Given the description of an element on the screen output the (x, y) to click on. 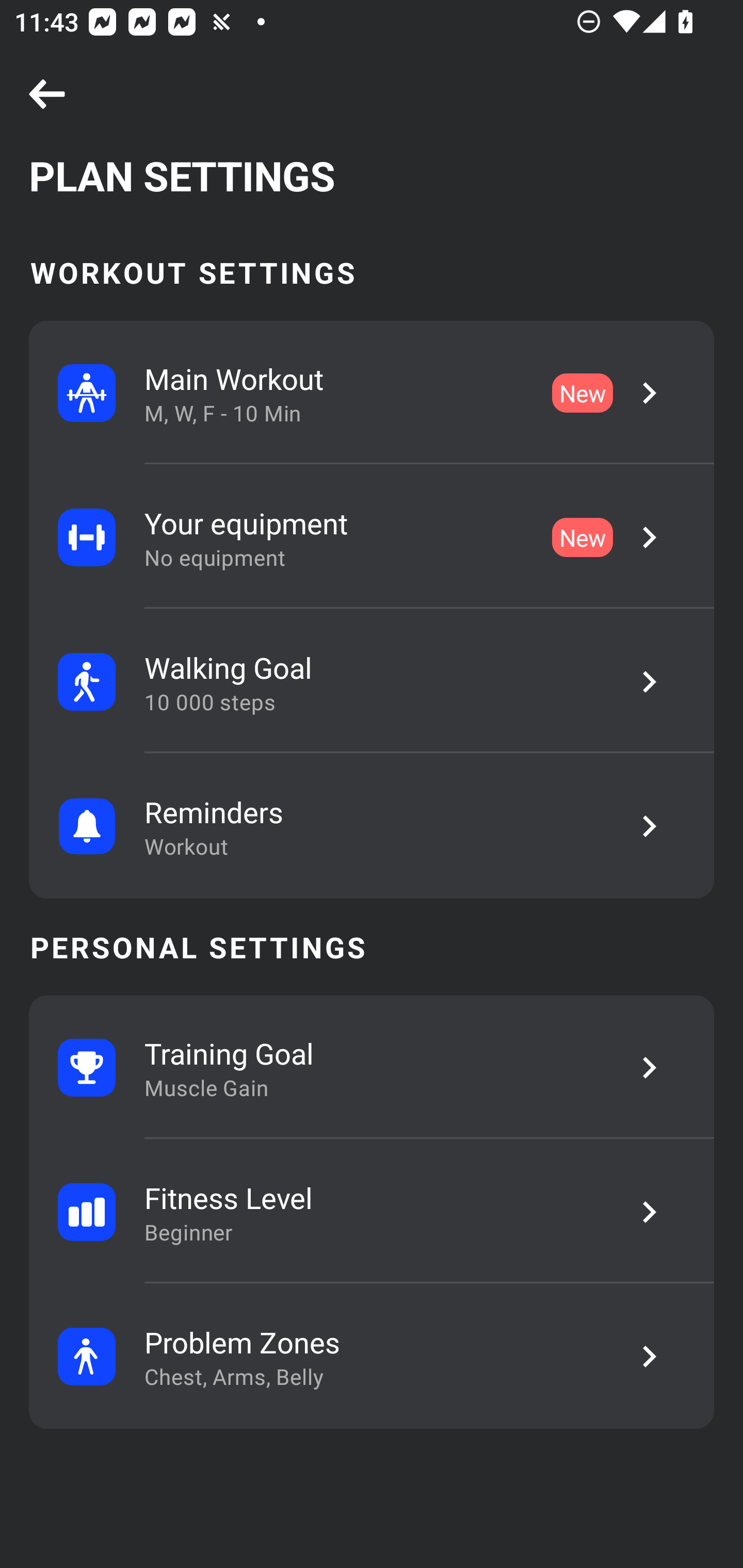
Navigation icon (46, 94)
REMINDERS Reminders Workout REMINDERS (371, 826)
FITNESS_LEVEL Fitness Level Beginner FITNESS_LEVEL (371, 1211)
